Given the description of an element on the screen output the (x, y) to click on. 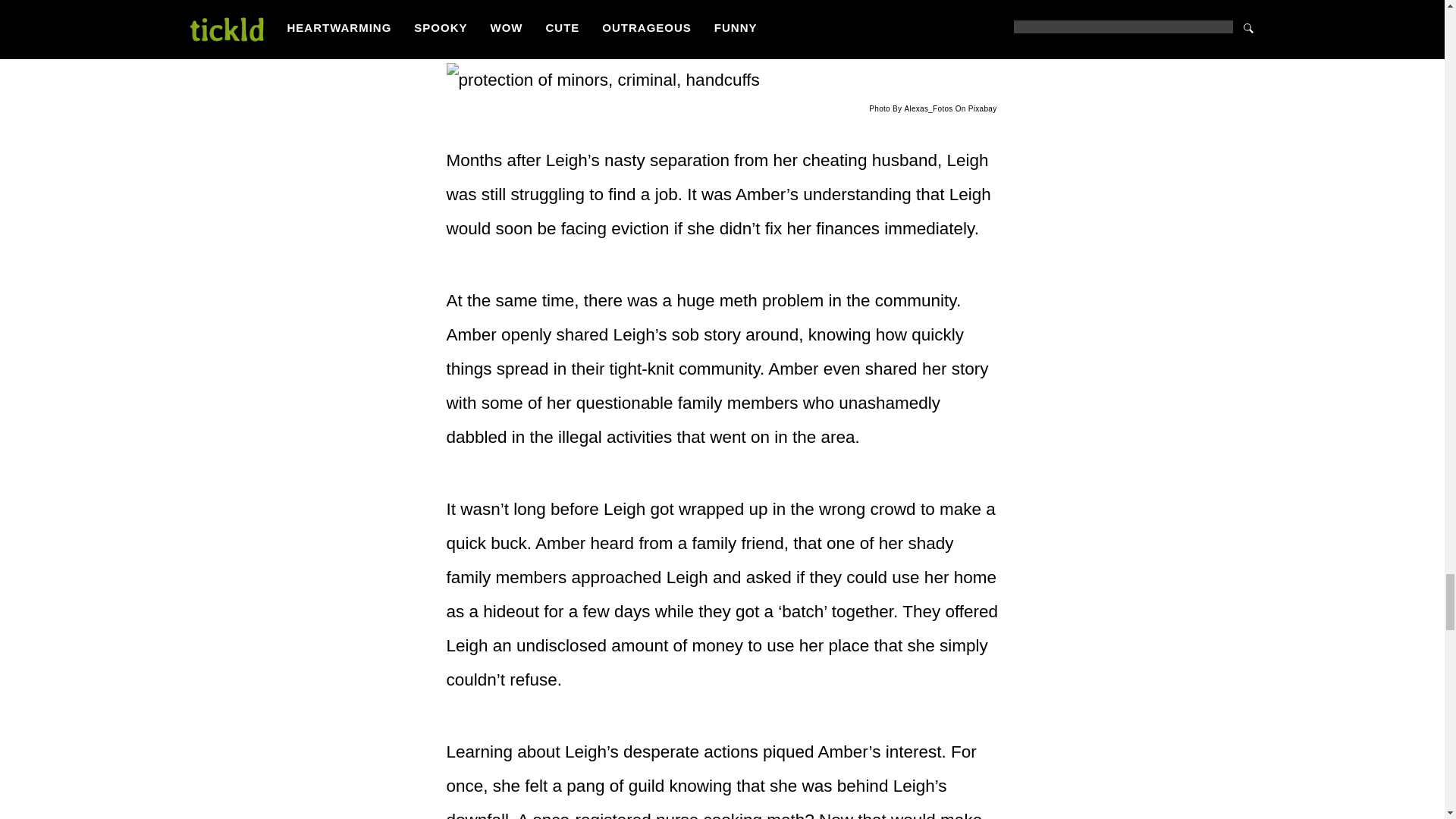
Pixabay (982, 108)
